Given the description of an element on the screen output the (x, y) to click on. 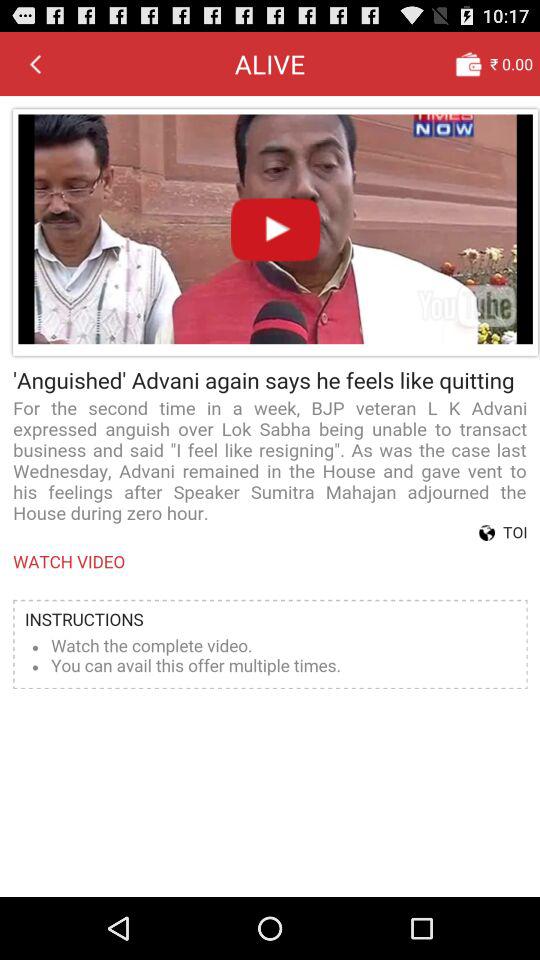
money wallet icon (468, 63)
